Given the description of an element on the screen output the (x, y) to click on. 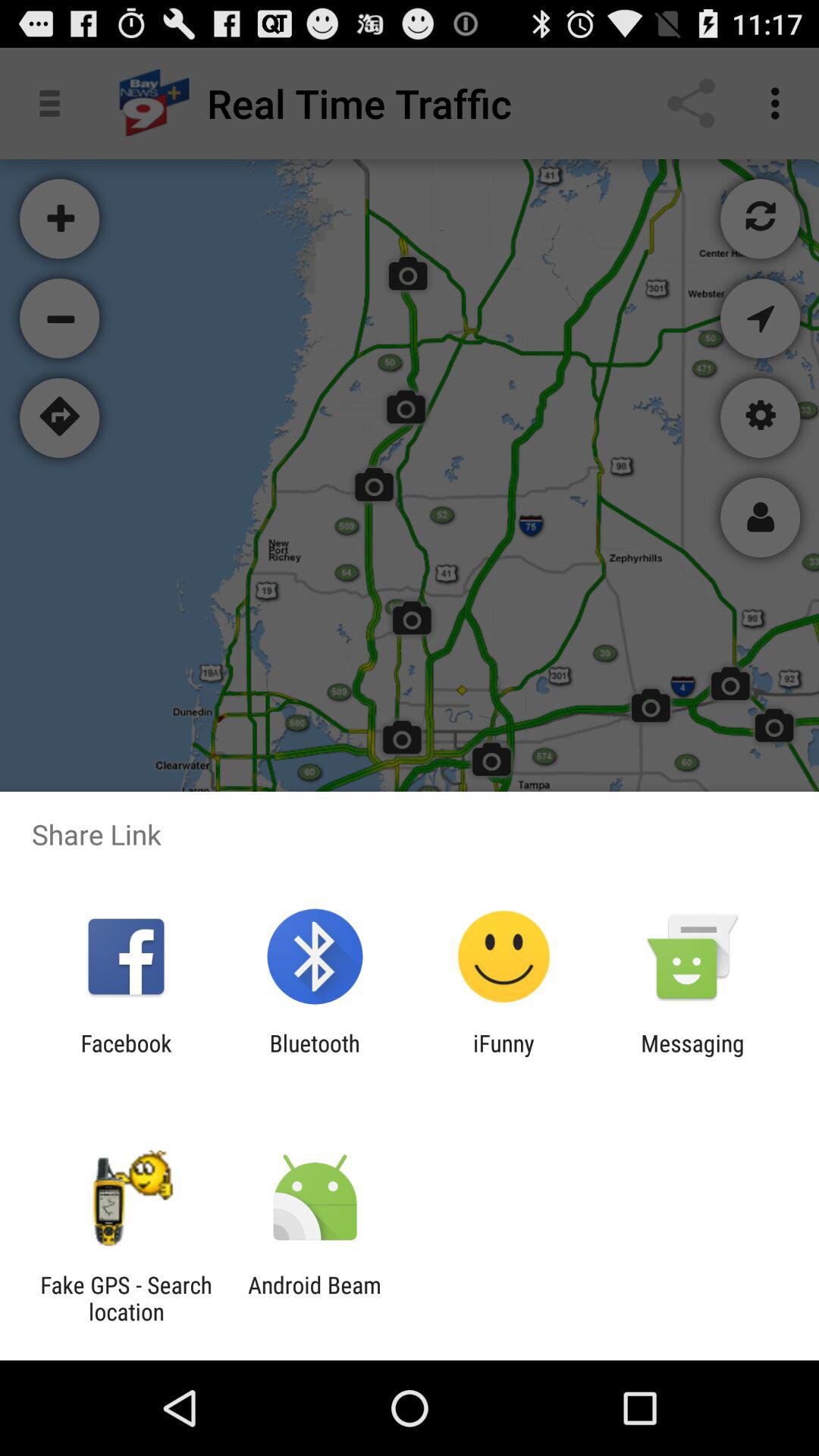
click icon next to bluetooth item (125, 1056)
